Given the description of an element on the screen output the (x, y) to click on. 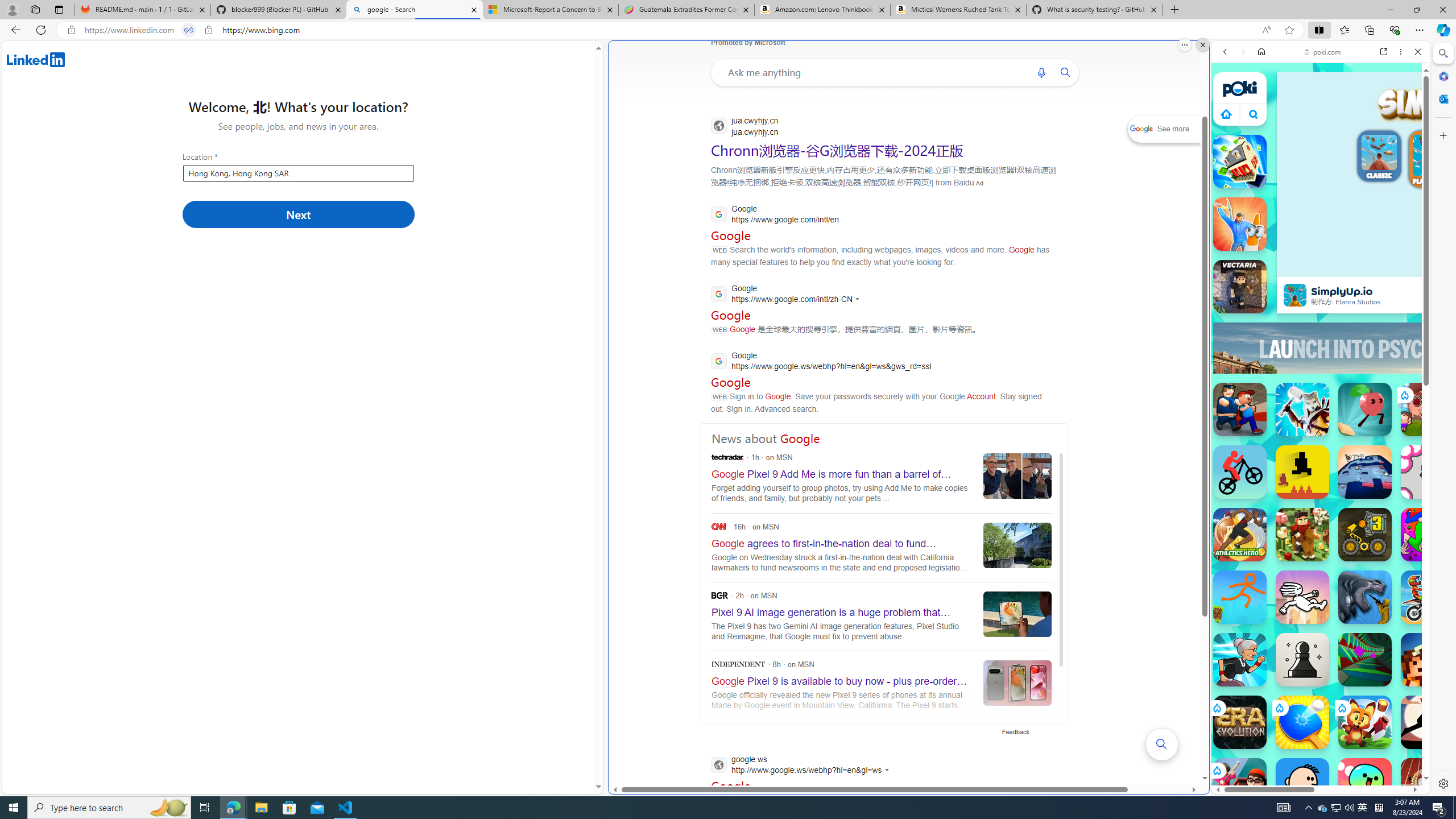
Poki - Free Online Games - Play Now! (1315, 175)
Simply Prop Hunt Simply Prop Hunt (1239, 223)
Angry Gran Run Angry Gran Run (1239, 659)
Stickman Bike Stickman Bike (1239, 471)
Search results from poki.com (1299, 443)
Escape From School (1239, 409)
Show More Io Games (1390, 351)
